Given the description of an element on the screen output the (x, y) to click on. 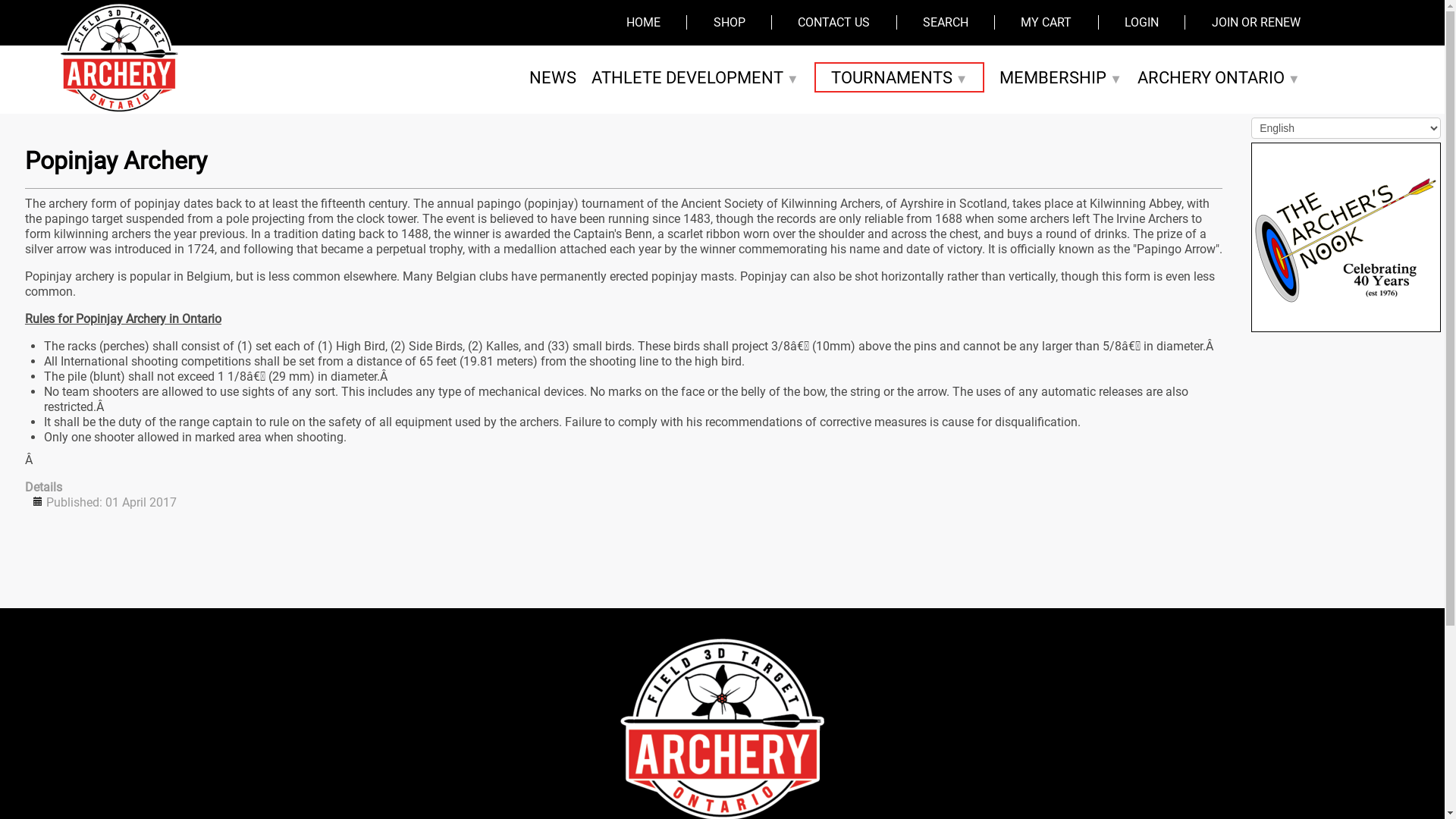
The Archer's Nook Element type: hover (1345, 236)
MY CART Element type: text (1045, 22)
TOURNAMENTS Element type: text (899, 77)
SHOP Element type: text (729, 22)
SEARCH Element type: text (945, 22)
MEMBERSHIP Element type: text (1060, 77)
NEWS Element type: text (552, 77)
LOGIN Element type: text (1141, 22)
ARCHERY ONTARIO Element type: text (1218, 77)
JOIN OR RENEW Element type: text (1255, 22)
ATHLETE DEVELOPMENT Element type: text (695, 77)
CONTACT US Element type: text (833, 22)
HOME Element type: text (643, 22)
